Given the description of an element on the screen output the (x, y) to click on. 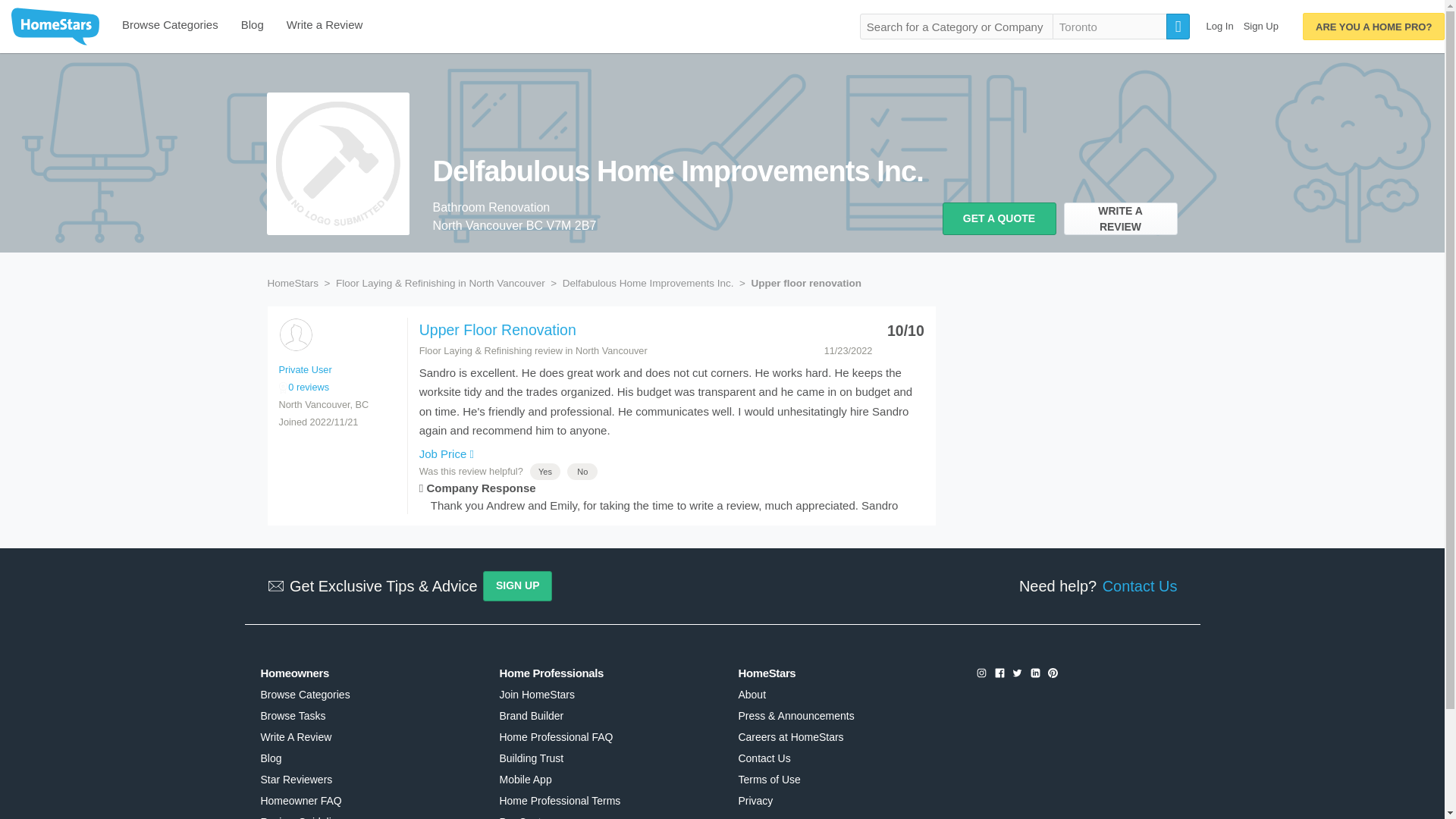
Browse Tasks (292, 715)
Join HomeStars (536, 694)
Sign Up (1260, 25)
Delfabulous Home Improvements Inc. (647, 283)
WRITE A REVIEW (1119, 218)
Delfabulous Home Improvements Inc.'s logo (337, 163)
Write a Review (324, 26)
Contact Us (1136, 586)
Brand Builder (531, 715)
Private User (305, 369)
Review Guidelines (303, 817)
Write A Review (295, 736)
Yes (545, 471)
SIGN UP (517, 585)
Homeowner FAQ (300, 800)
